Given the description of an element on the screen output the (x, y) to click on. 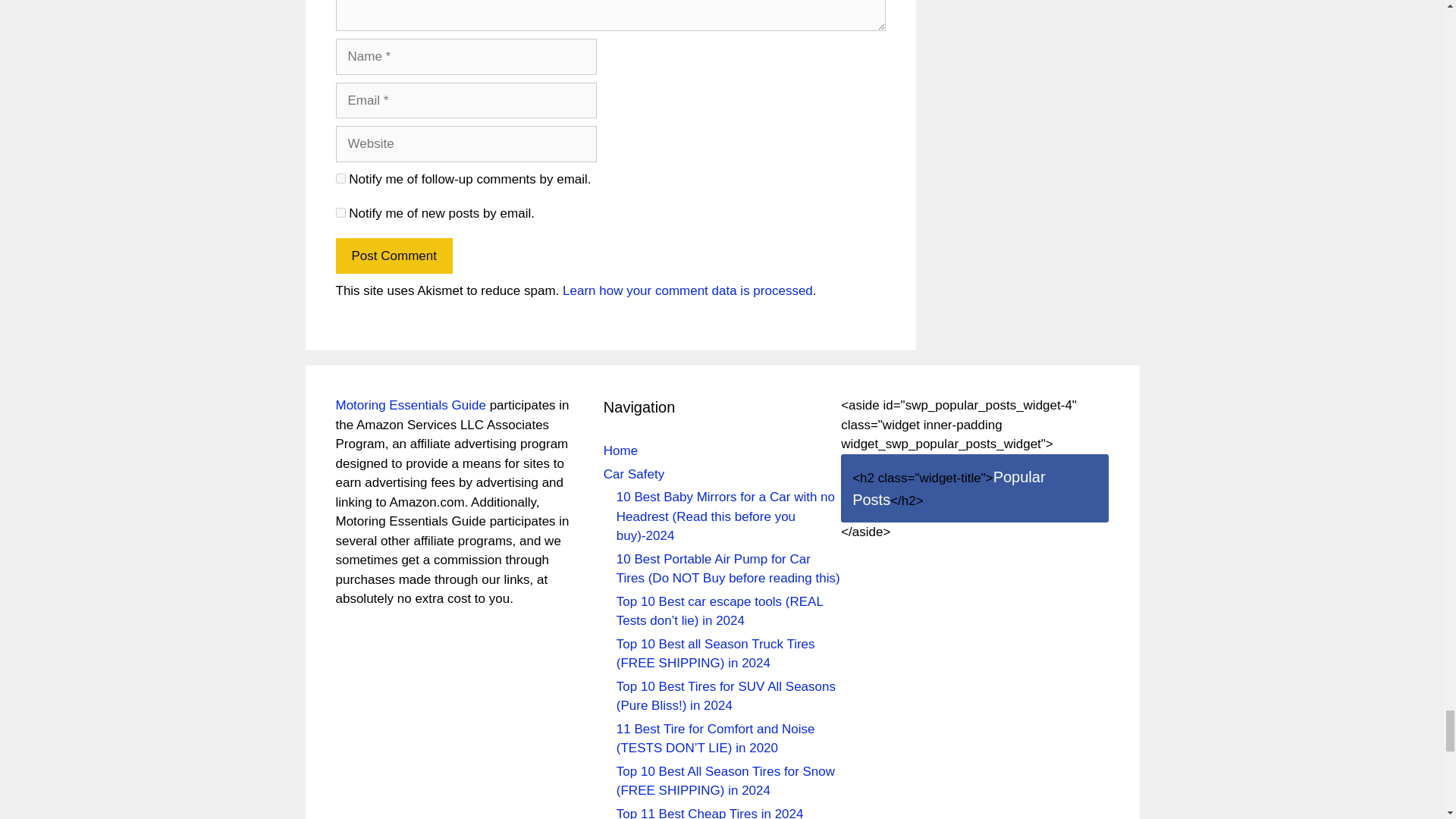
subscribe (339, 178)
Post Comment (392, 256)
subscribe (339, 212)
